Given the description of an element on the screen output the (x, y) to click on. 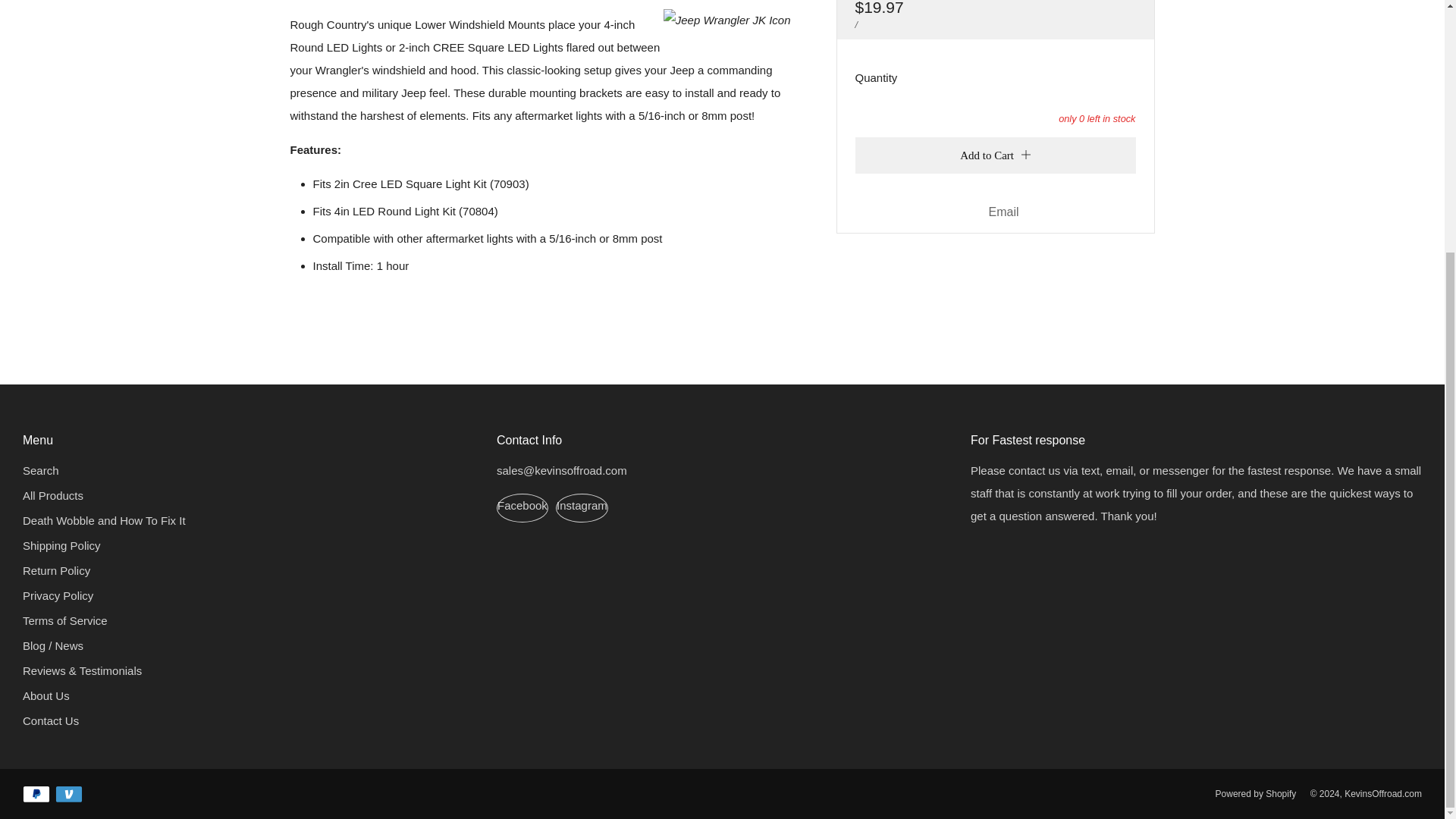
Death Wobble and How To Fix It (104, 520)
Search (41, 470)
Add to Cart (995, 155)
Shipping Policy (61, 545)
Return Policy (56, 570)
Terms of Service (65, 620)
All Products (52, 495)
Privacy Policy (58, 594)
Email (1003, 212)
